Given the description of an element on the screen output the (x, y) to click on. 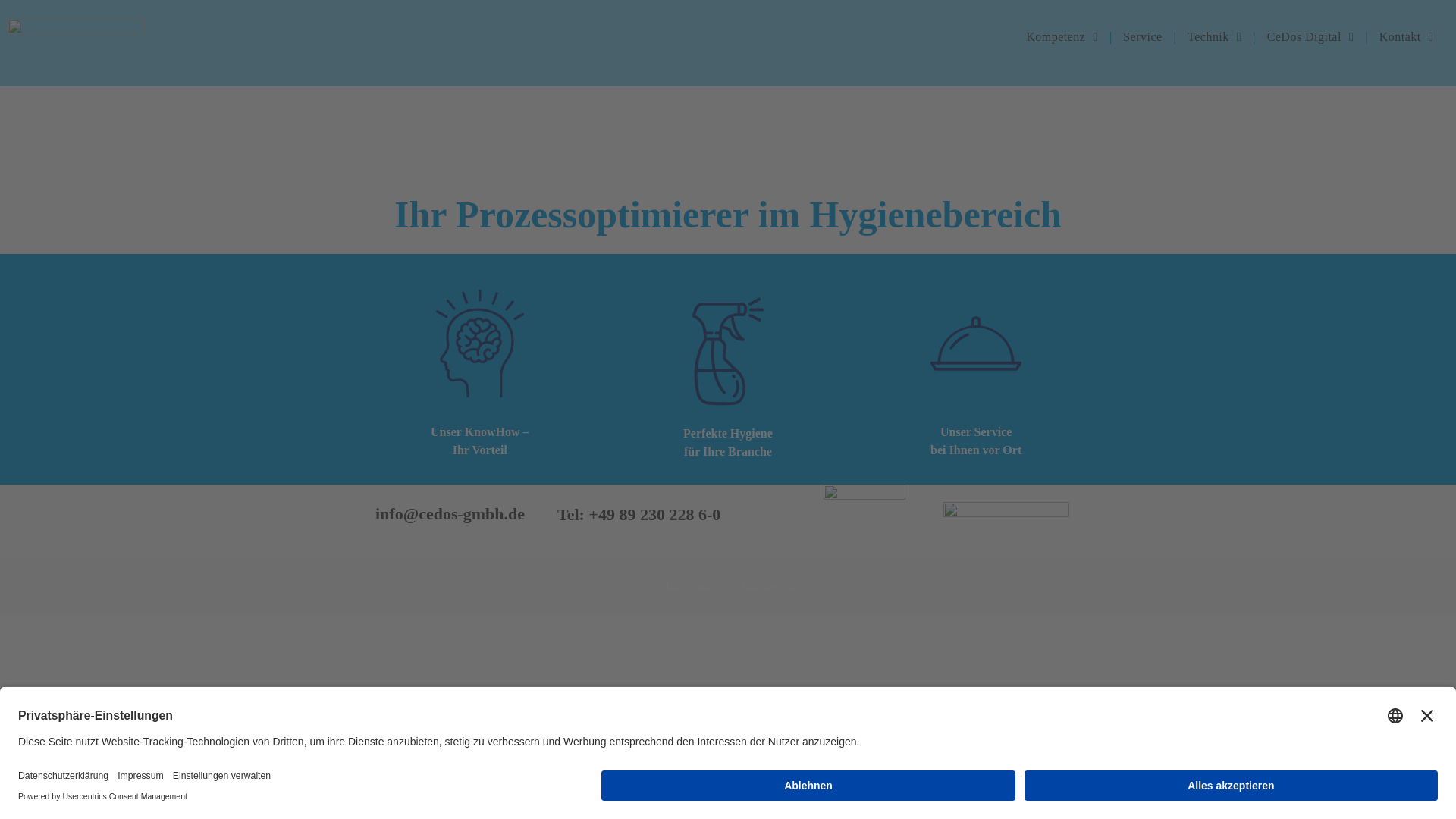
info@cedos-gmbh.de Element type: text (449, 513)
Impressum Element type: text (692, 586)
Kontakt Element type: text (1406, 37)
Kompetenz Element type: text (1061, 37)
CeDos Digital Element type: text (1310, 37)
el: +49 89 230 228 6- Element type: text (639, 514)
Service Element type: text (1142, 37)
Technik Element type: text (1214, 37)
Datenschutz Element type: text (770, 586)
